Given the description of an element on the screen output the (x, y) to click on. 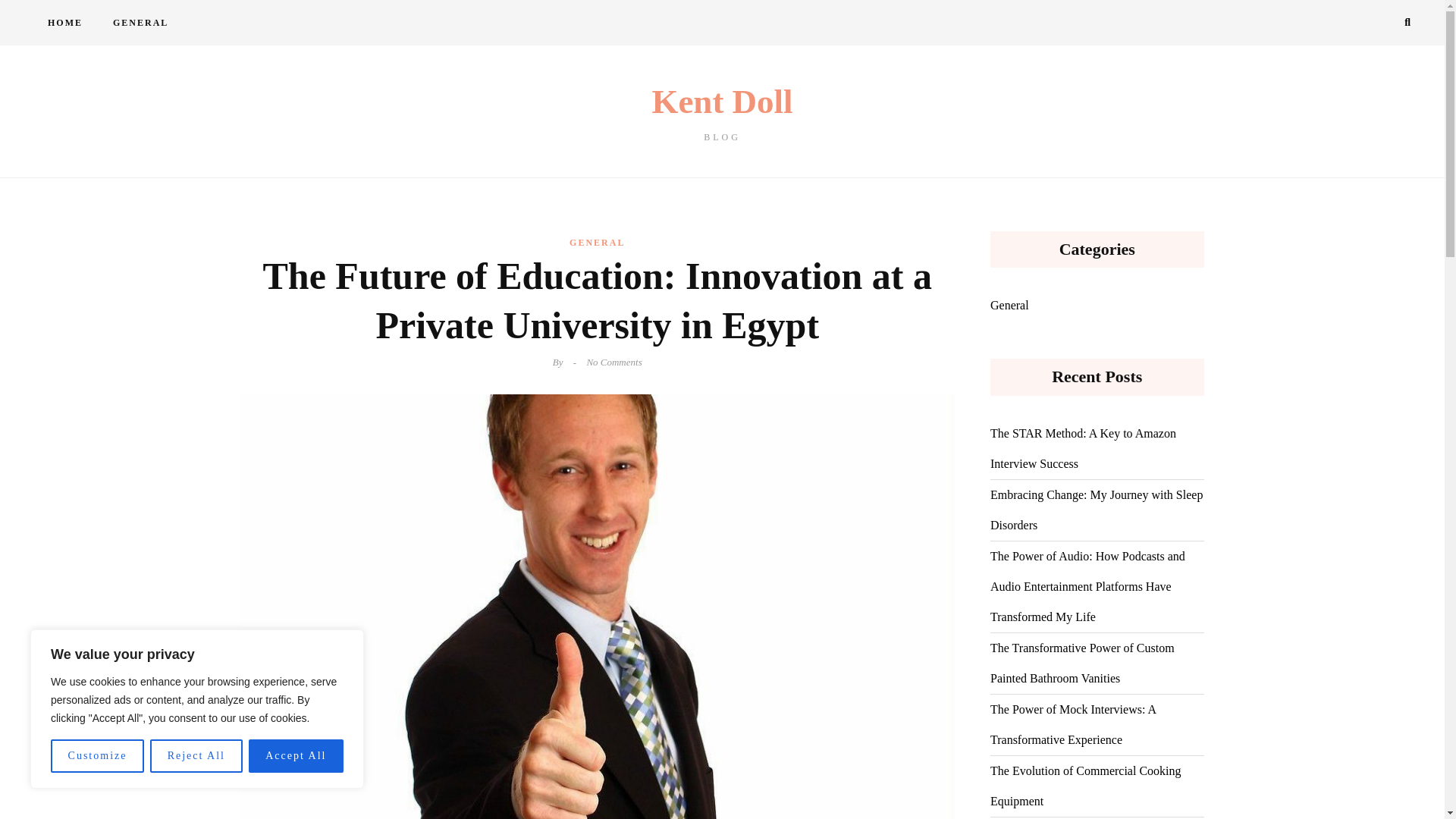
HOME (64, 22)
General (1009, 305)
Customize (97, 756)
Accept All (295, 756)
GENERAL (140, 22)
Reject All (196, 756)
GENERAL (596, 241)
